Given the description of an element on the screen output the (x, y) to click on. 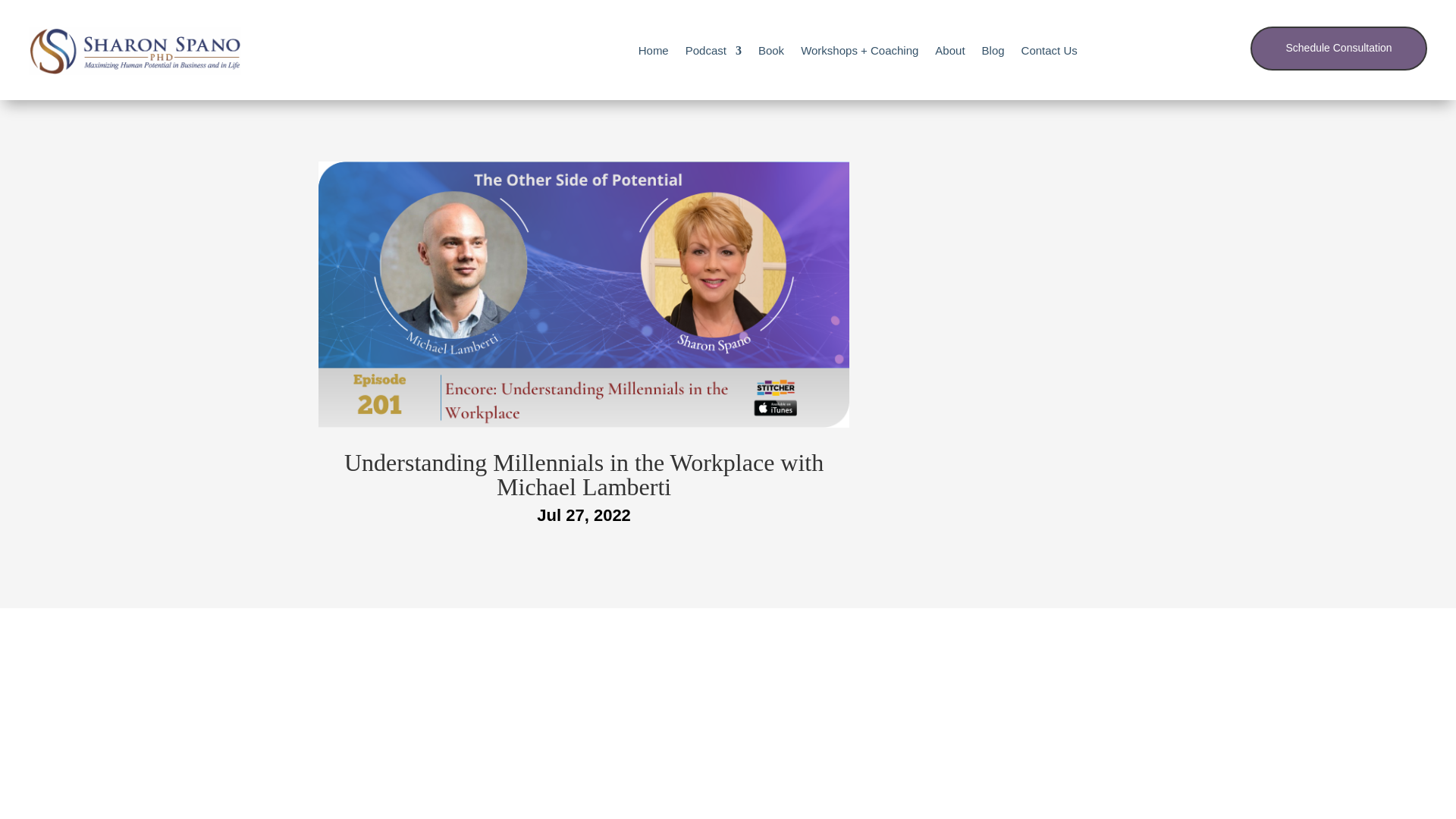
Schedule Consultation (1338, 48)
Contact Us (1049, 50)
Podcast (713, 50)
